Given the description of an element on the screen output the (x, y) to click on. 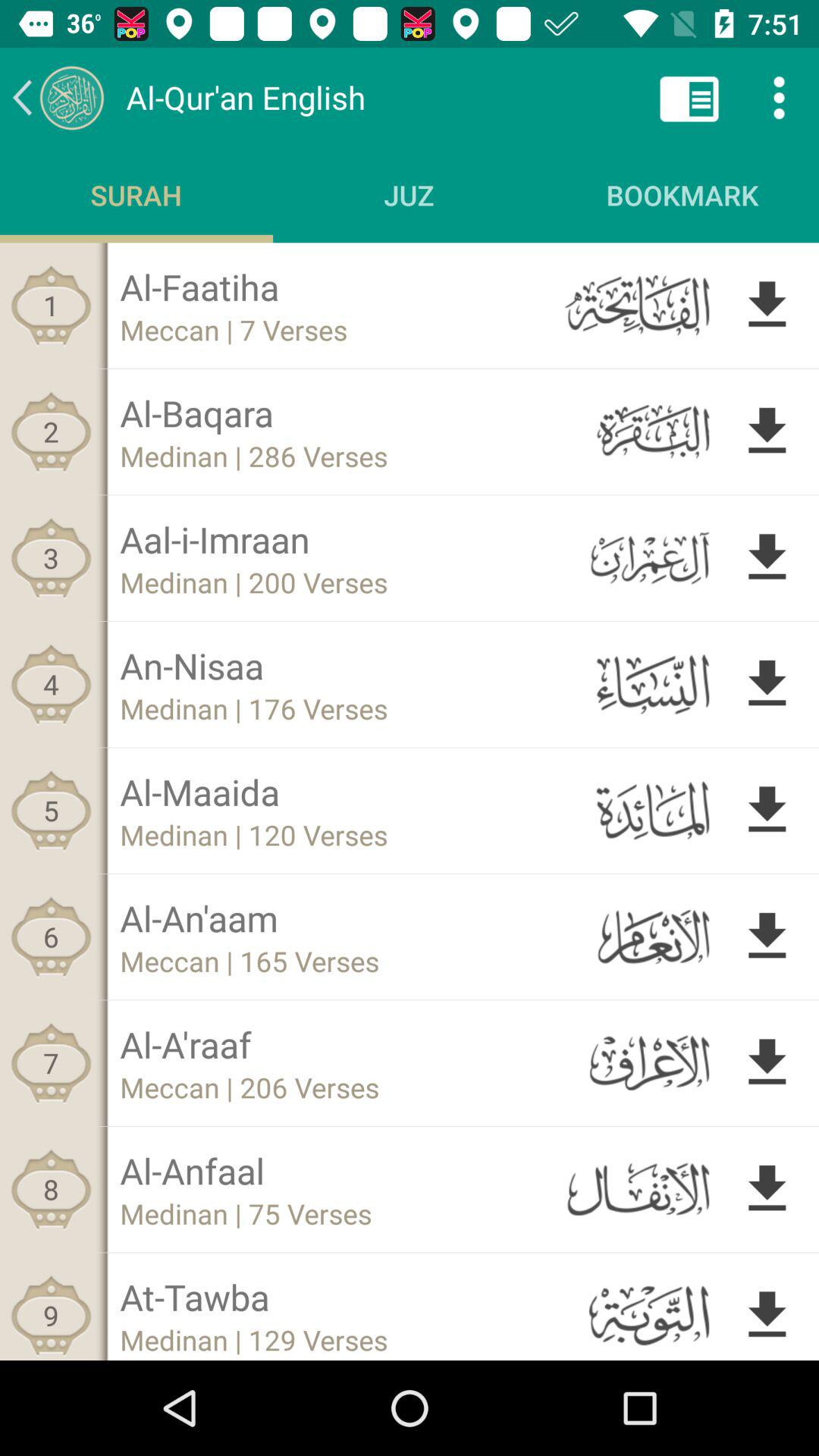
download (767, 683)
